Given the description of an element on the screen output the (x, y) to click on. 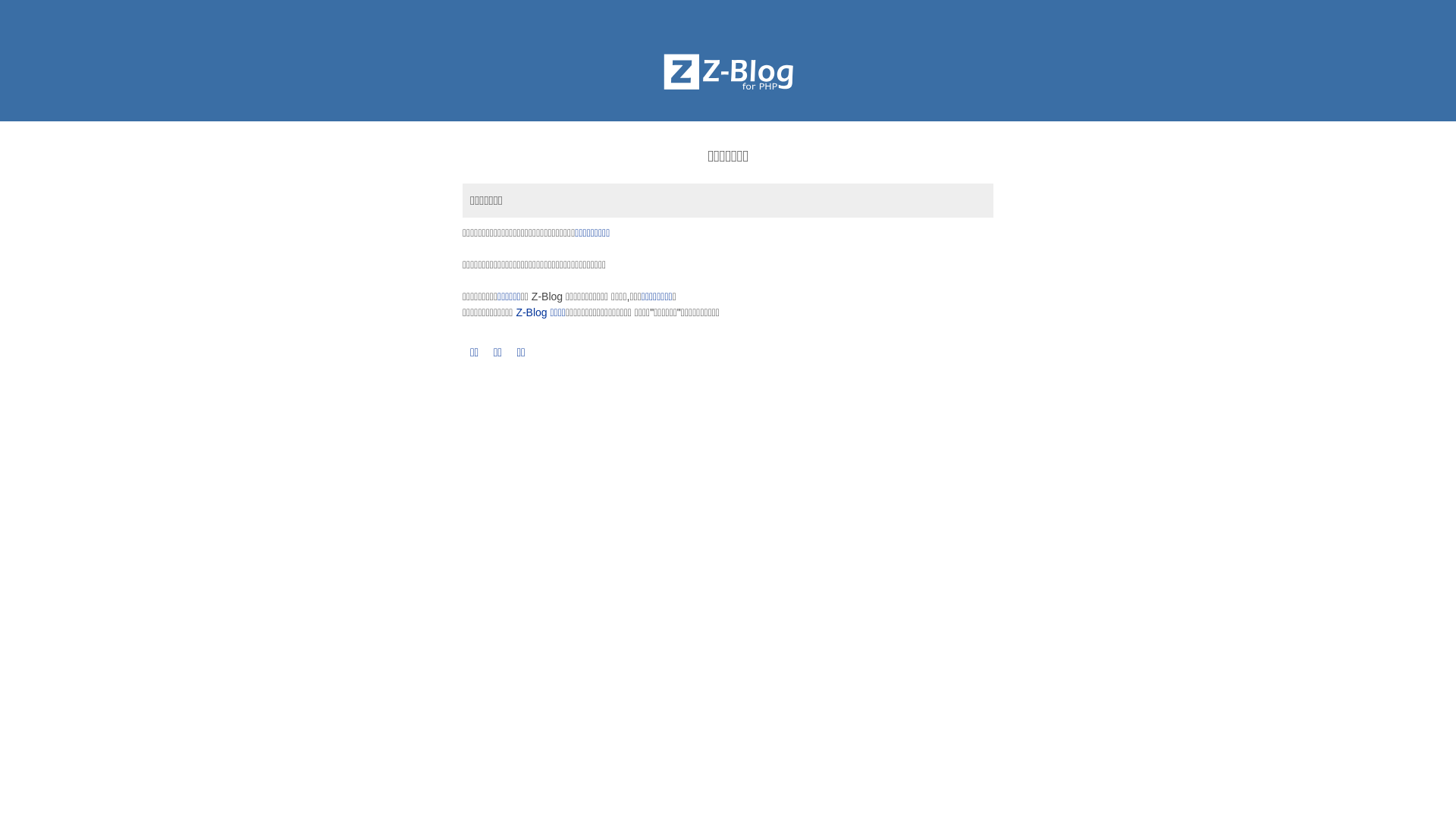
Z-BlogPHP Element type: hover (727, 71)
